Given the description of an element on the screen output the (x, y) to click on. 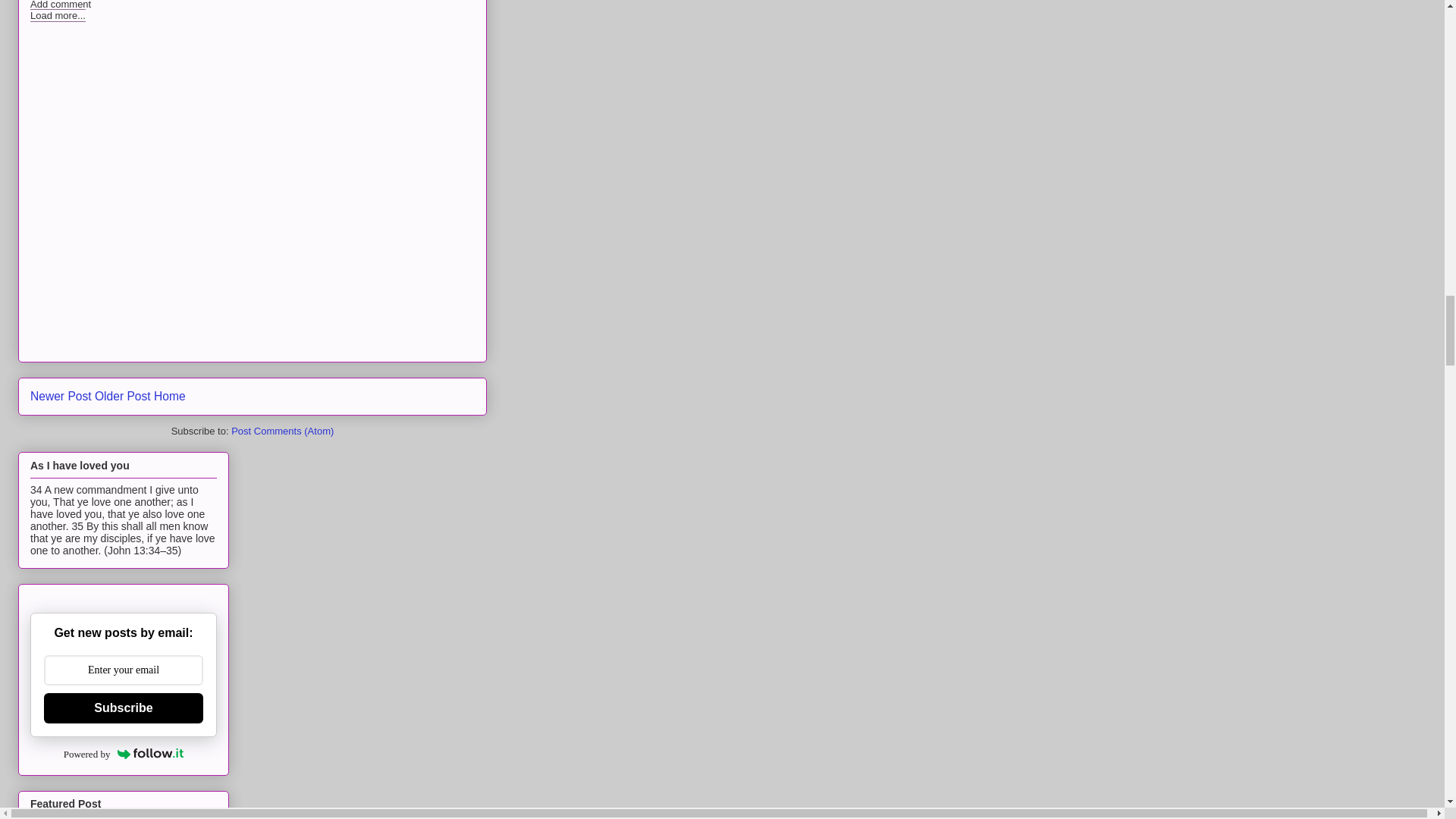
Load more... (57, 15)
Older Post (122, 395)
Subscribe (123, 707)
Add comment (60, 4)
Newer Post (60, 395)
Newer Post (60, 395)
Older Post (122, 395)
Home (170, 395)
Powered by (123, 753)
